Given the description of an element on the screen output the (x, y) to click on. 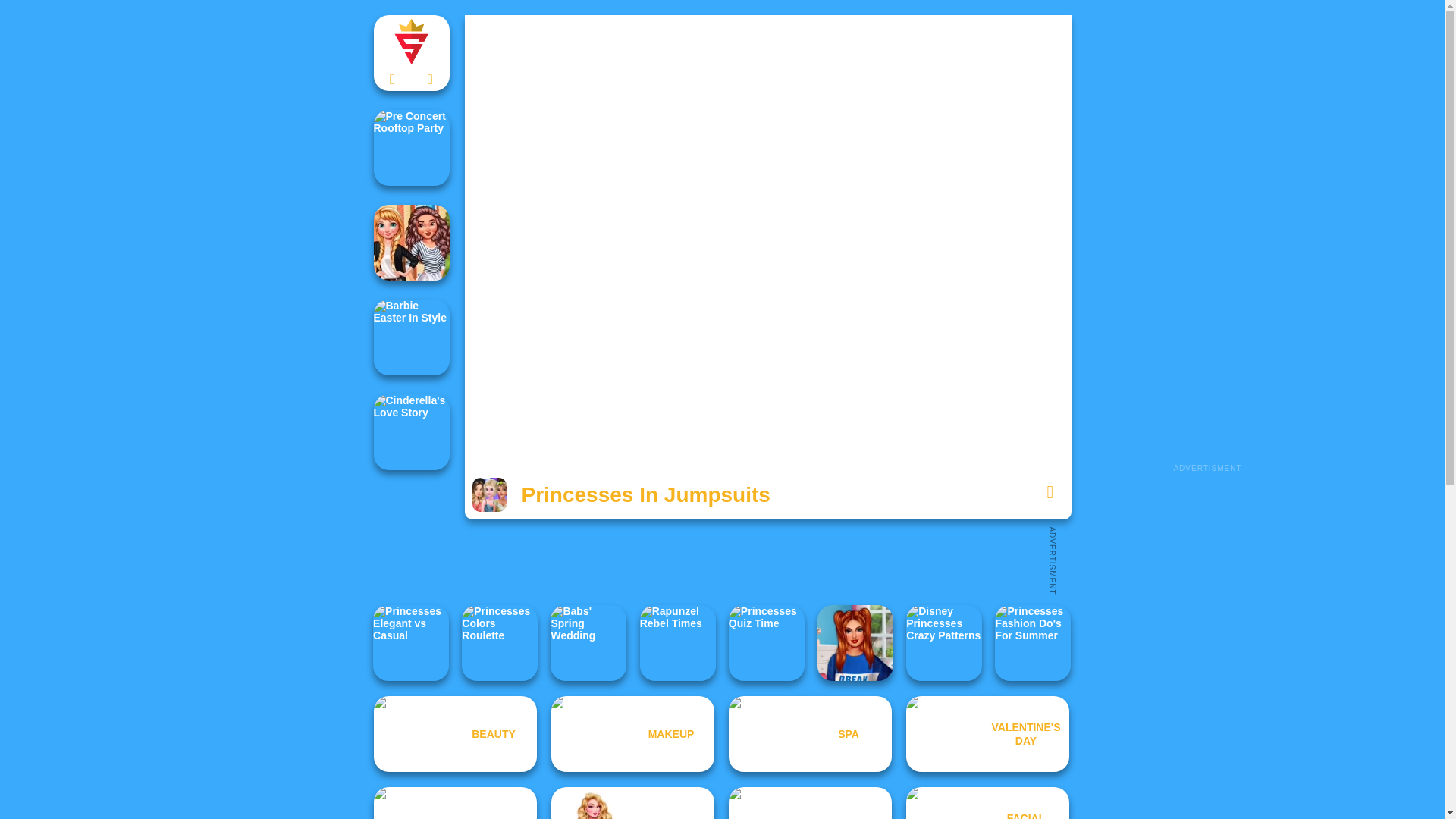
Disney Princesses Crazy Patterns (943, 642)
BEAUTY (455, 734)
Princesses Colors Roulette (499, 642)
Spa (810, 734)
Villains Join The Princesses School (854, 642)
NAIL (455, 803)
Princesses Elegant vs Casual (410, 642)
Fullscreen (1050, 492)
Beauty (455, 734)
Babs' Spring Wedding (588, 642)
VALENTINE'S DAY (986, 734)
FACIAL BEAUTY (986, 803)
Barbie Easter In Style (410, 337)
HAIRSTYLE (810, 803)
Rapunzel Rebel Times (678, 642)
